Given the description of an element on the screen output the (x, y) to click on. 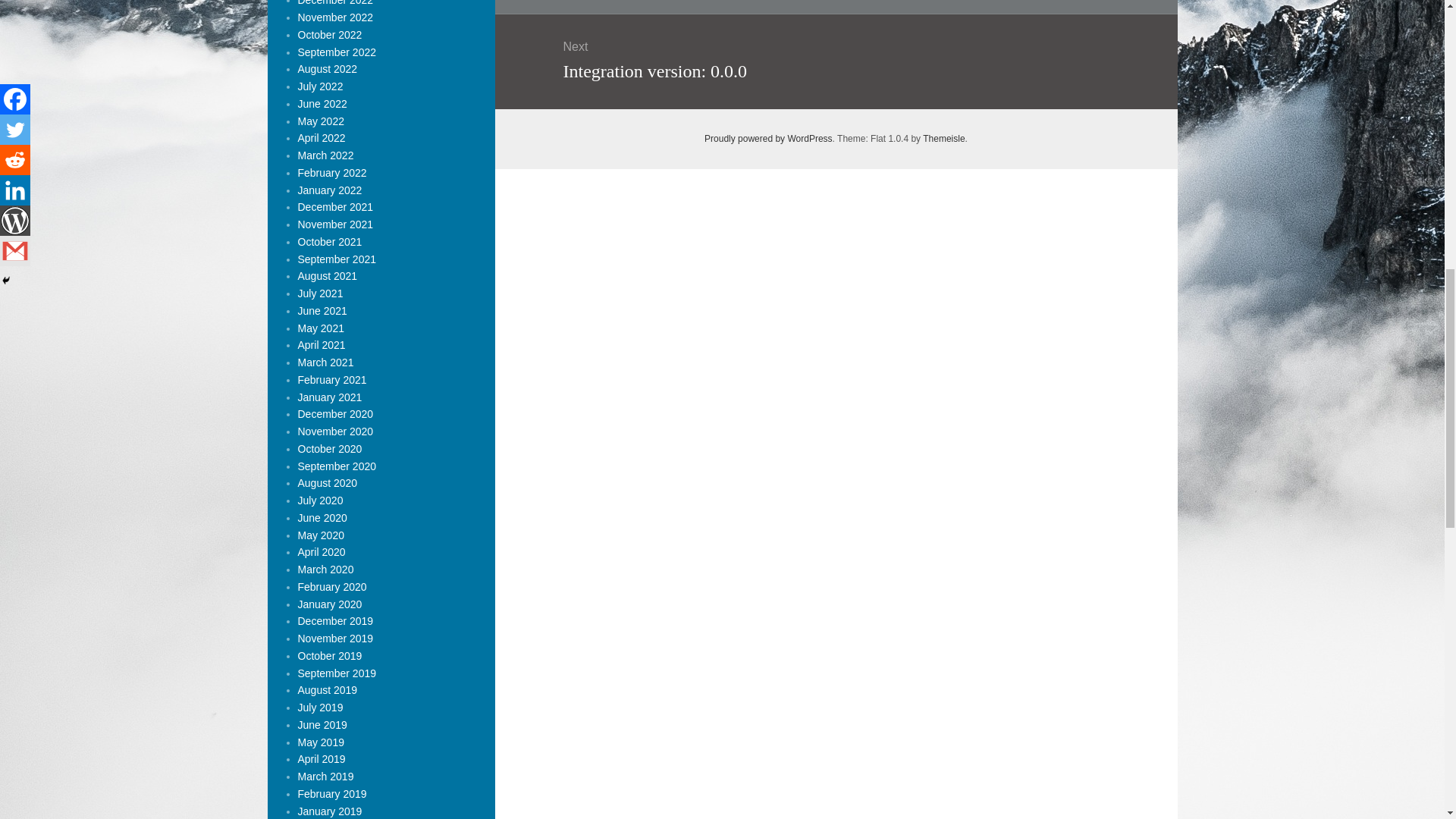
July 2022 (319, 86)
September 2022 (336, 51)
December 2022 (334, 2)
Semantic Personal Publishing Platform (768, 138)
November 2022 (334, 17)
October 2022 (329, 34)
June 2022 (321, 103)
April 2022 (321, 137)
May 2022 (320, 121)
Flat WordPress Theme (943, 138)
August 2022 (326, 69)
